Given the description of an element on the screen output the (x, y) to click on. 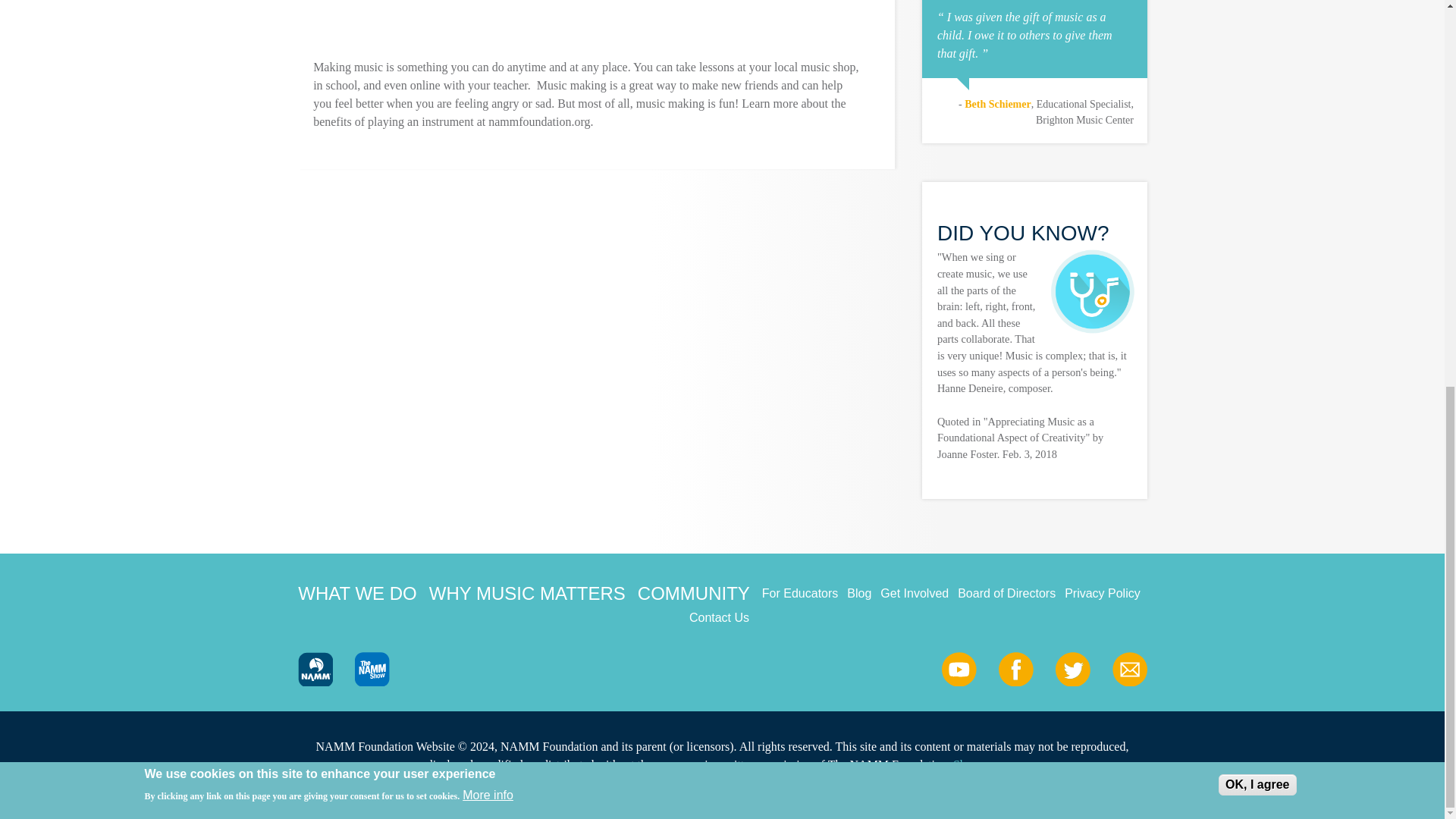
Blog (858, 593)
WHAT WE DO (357, 593)
NAMM Foundation Youtube (959, 668)
Get Involved (914, 593)
Board of Directors (1006, 593)
Show more... (985, 764)
The NAMM Foundation Board of Directors (1006, 593)
Email NAMM Foundation (1129, 668)
For Educators (799, 593)
OK, I agree (1256, 55)
